Given the description of an element on the screen output the (x, y) to click on. 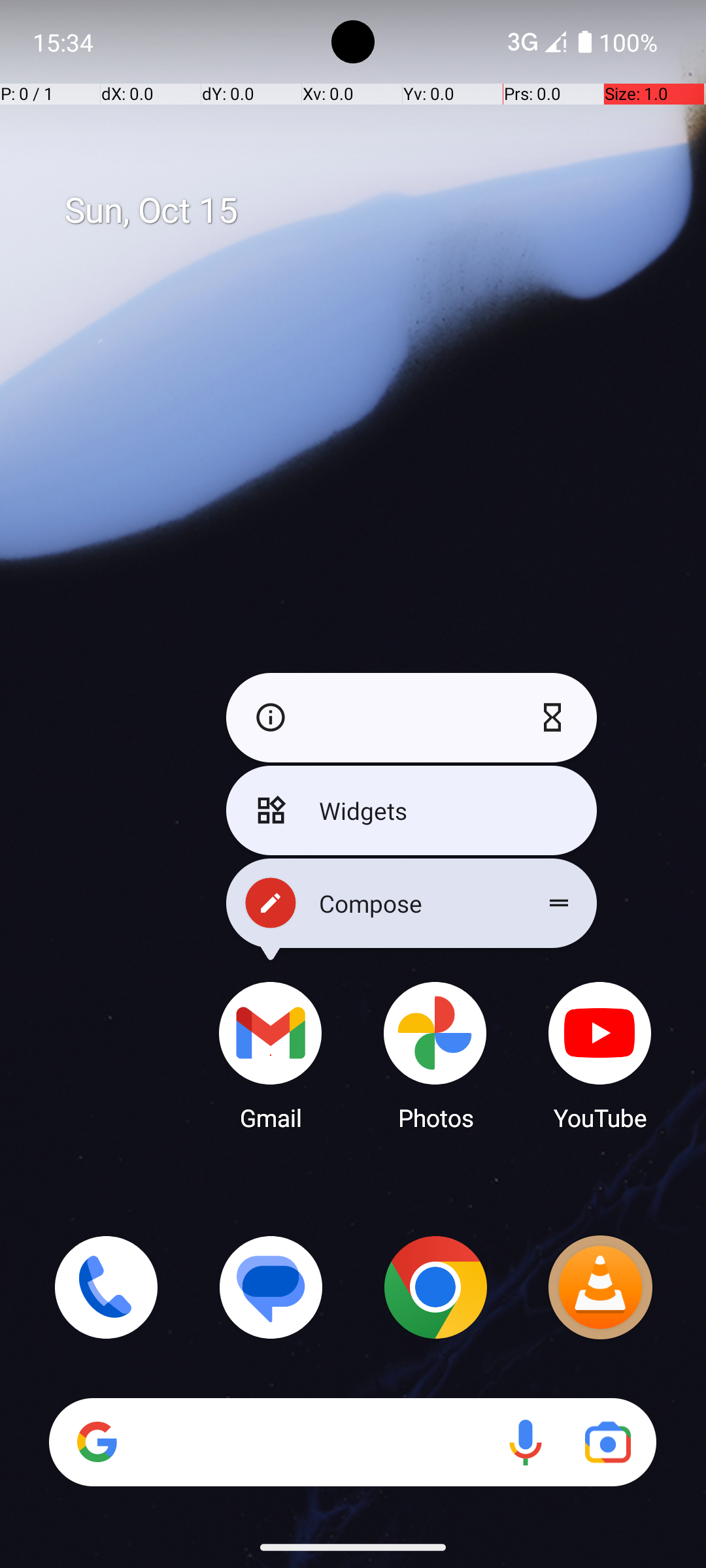
App info Element type: android.widget.ImageView (267, 717)
Pause app Element type: android.widget.ImageView (555, 717)
Compose Element type: android.widget.TextView (411, 902)
Widgets Element type: android.widget.TextView (411, 810)
